Given the description of an element on the screen output the (x, y) to click on. 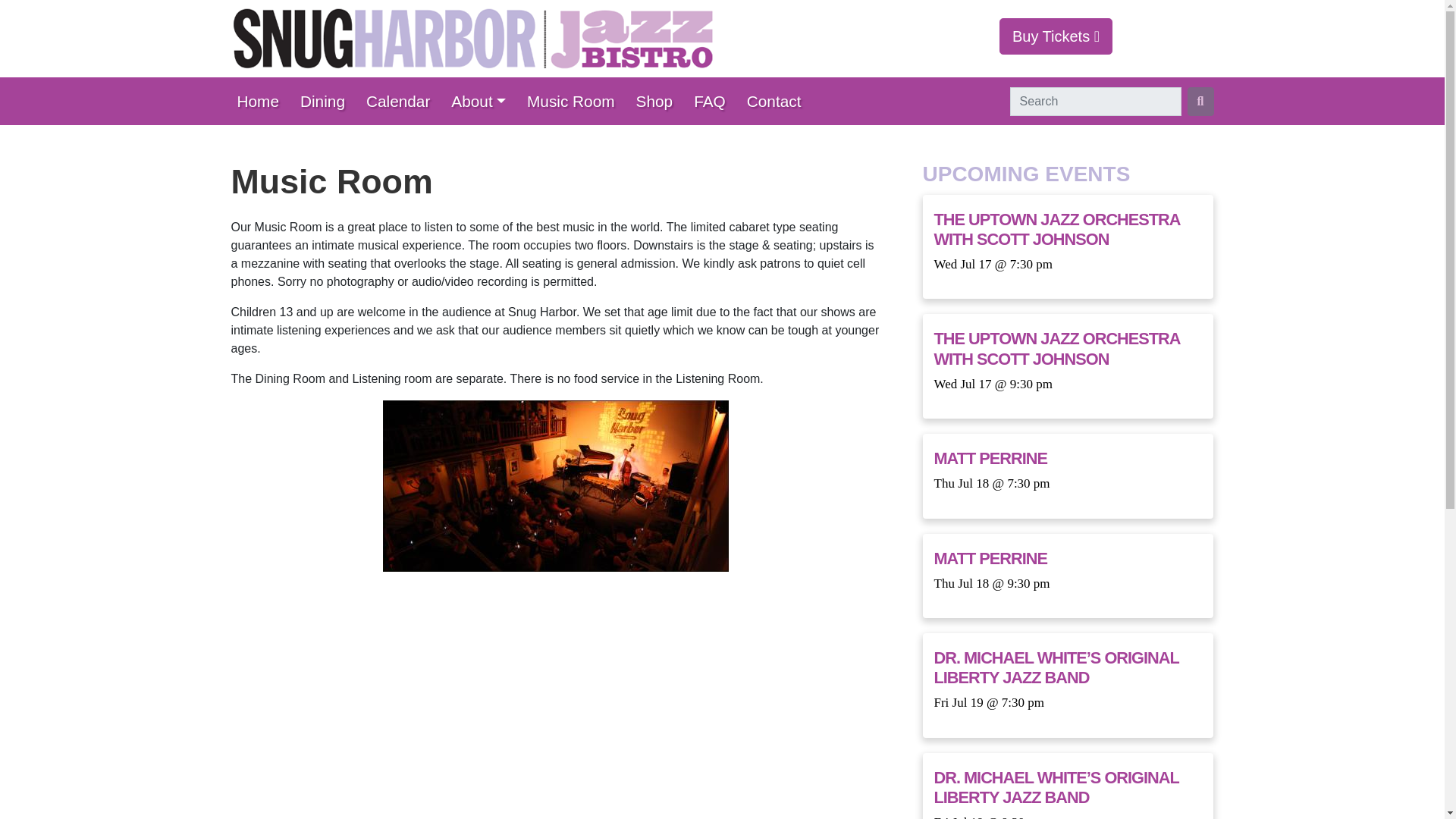
Snug Harbor Jazz Bistro (471, 38)
Shop (659, 100)
THE UPTOWN JAZZ ORCHESTRA WITH SCOTT JOHNSON (1056, 228)
Music Room (575, 100)
Buy Tickets (1055, 36)
FAQ (714, 100)
Home (262, 100)
Contact (778, 100)
Calendar (402, 100)
Music Room (575, 100)
About (483, 100)
Calendar (402, 100)
Dining (326, 100)
FAQ (714, 100)
Shop (659, 100)
